Given the description of an element on the screen output the (x, y) to click on. 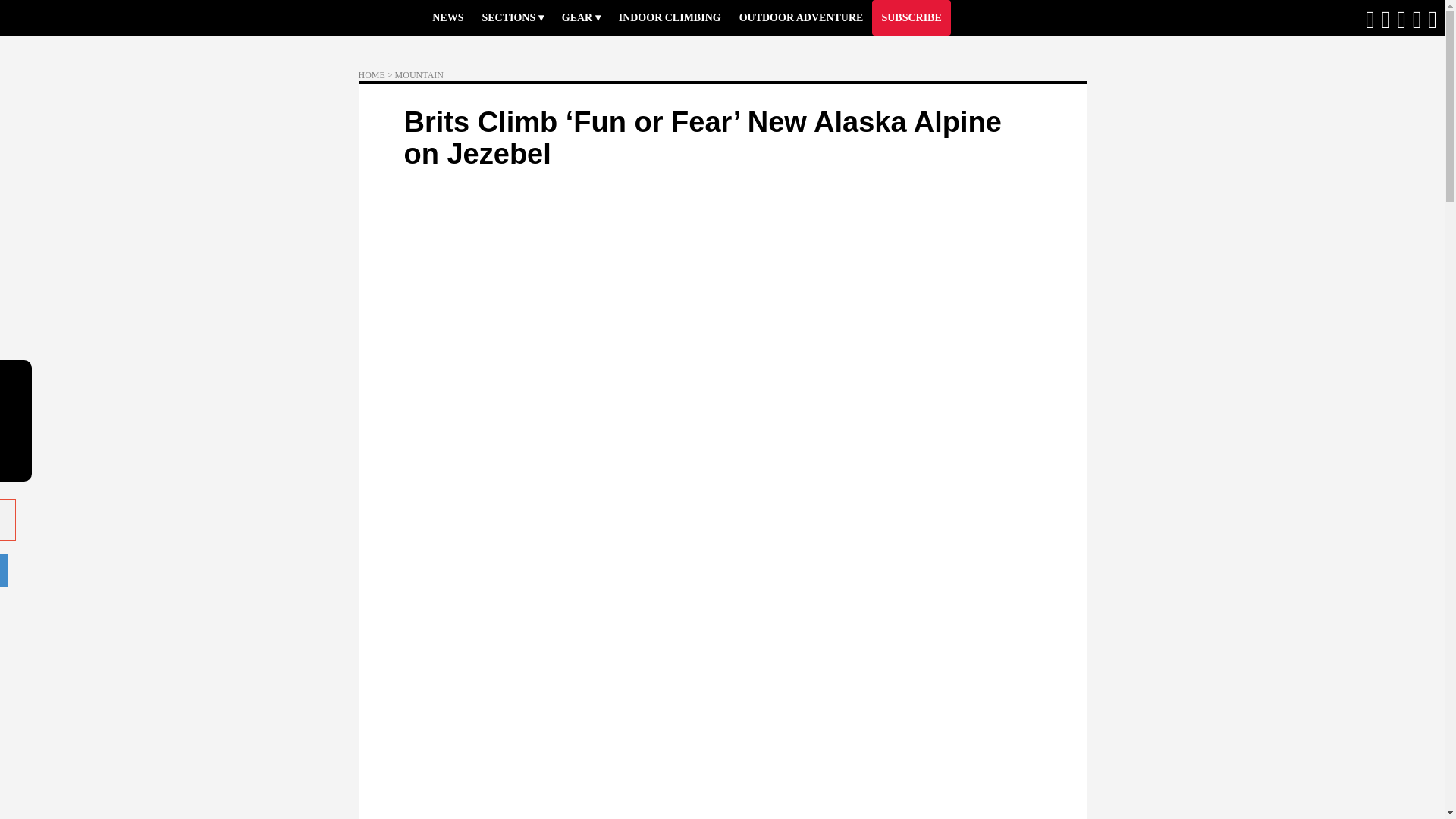
OUTDOOR ADVENTURE (801, 18)
GEAR (581, 18)
NEWS (447, 18)
SECTIONS (511, 18)
SUBSCRIBE (911, 18)
INDOOR CLIMBING (670, 18)
